Given the description of an element on the screen output the (x, y) to click on. 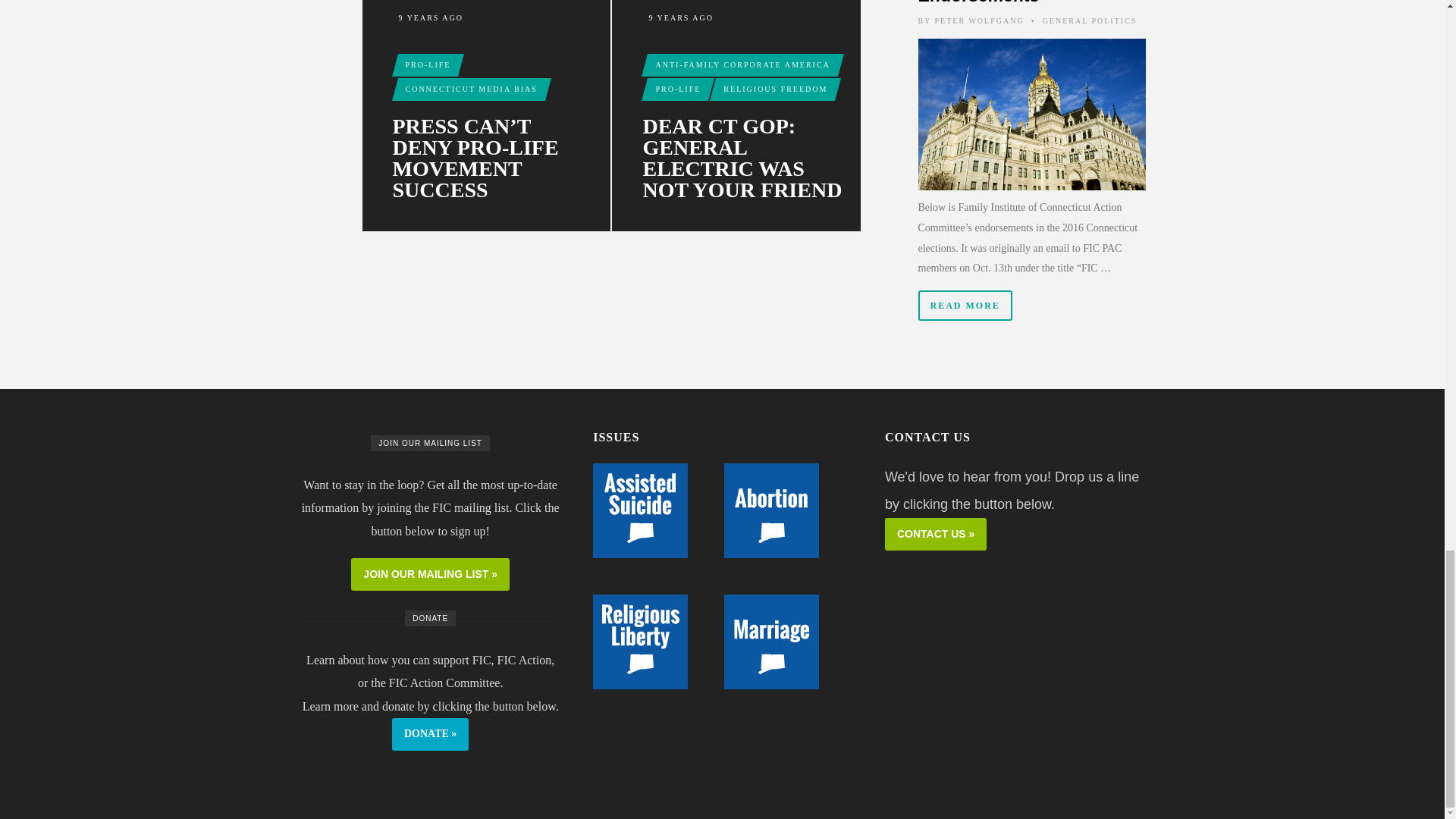
More Religious Freedom Posts (775, 88)
More Pro-Life Posts (677, 88)
More Connecticut Media Bias Posts (470, 88)
Dear CT GOP: General Electric Was Not Your Friend (746, 158)
More Anti-Family Corporate America Posts (742, 65)
More Pro-Life Posts (427, 65)
